Given the description of an element on the screen output the (x, y) to click on. 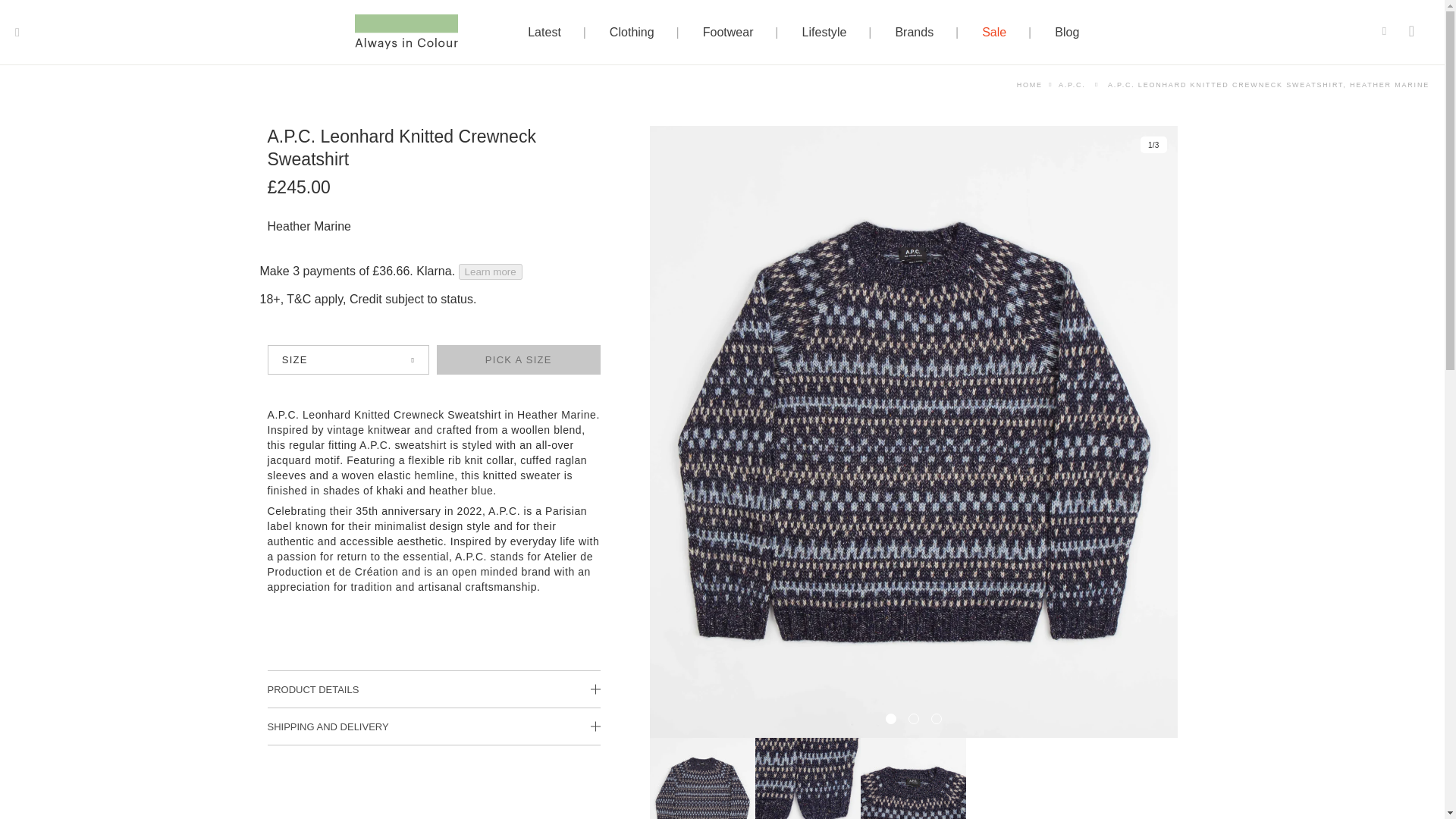
Home (1029, 84)
